Given the description of an element on the screen output the (x, y) to click on. 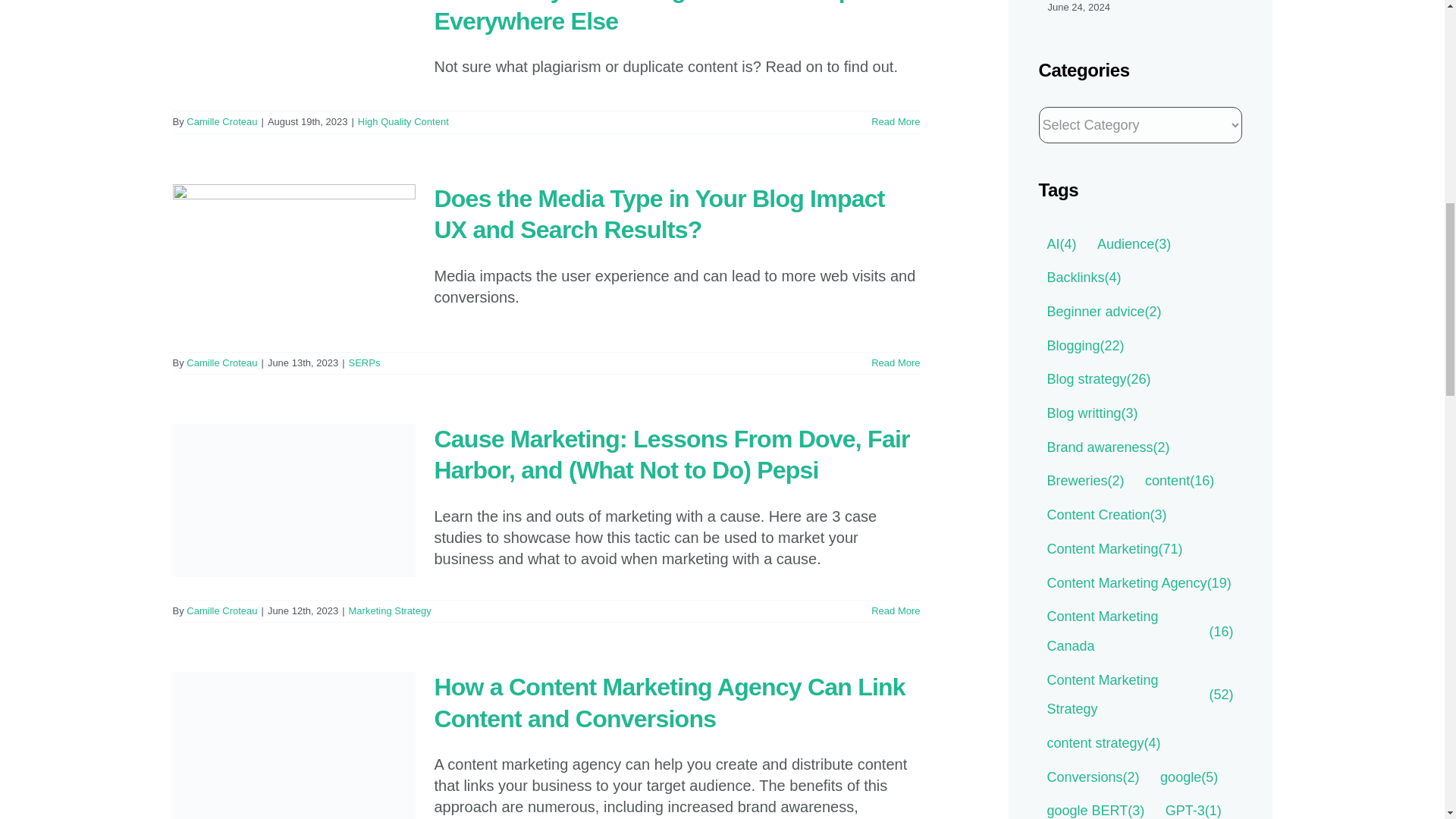
Posts by Camille Croteau (221, 610)
Posts by Camille Croteau (221, 362)
Posts by Camille Croteau (221, 121)
